Given the description of an element on the screen output the (x, y) to click on. 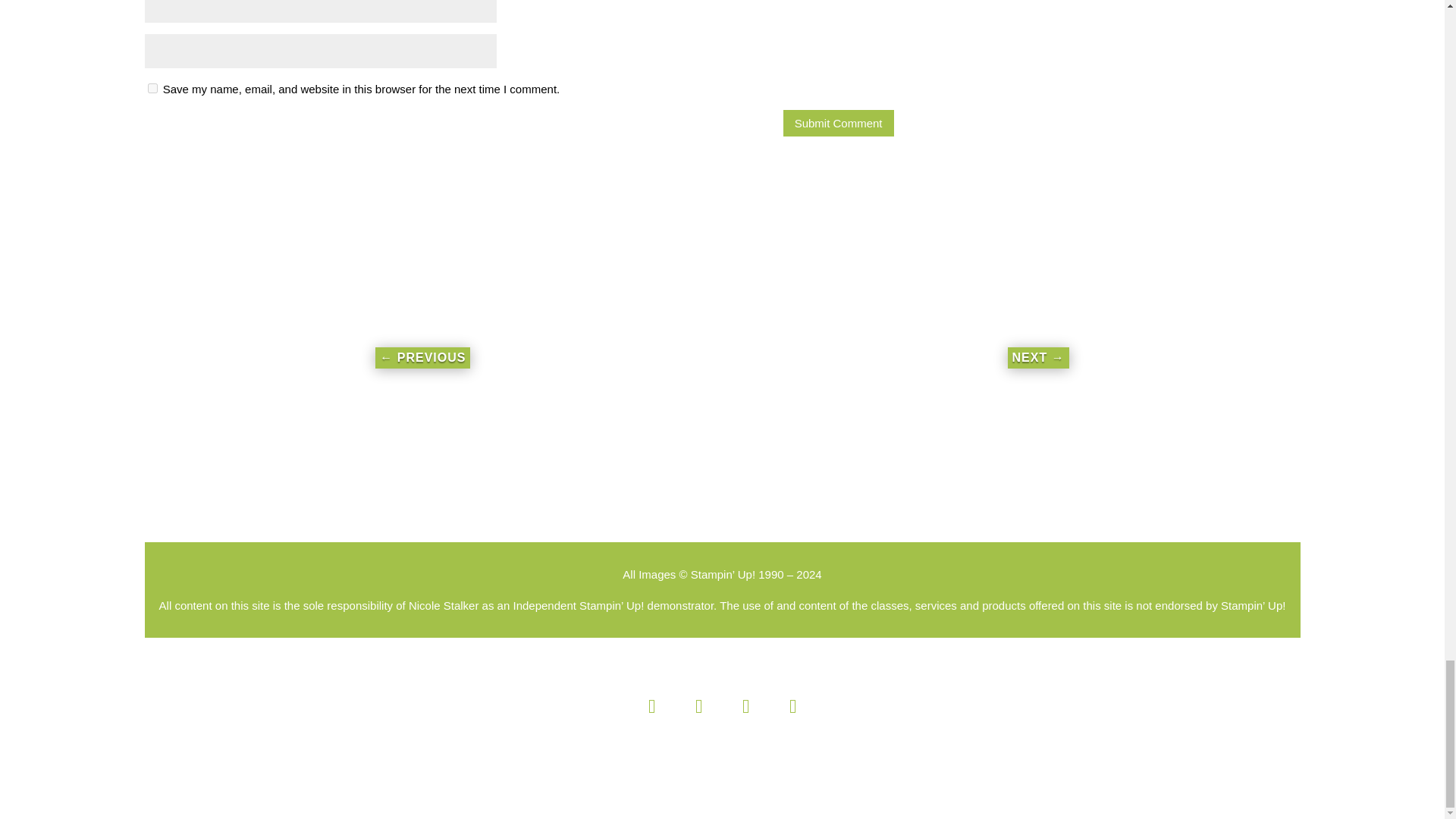
yes (152, 88)
